Given the description of an element on the screen output the (x, y) to click on. 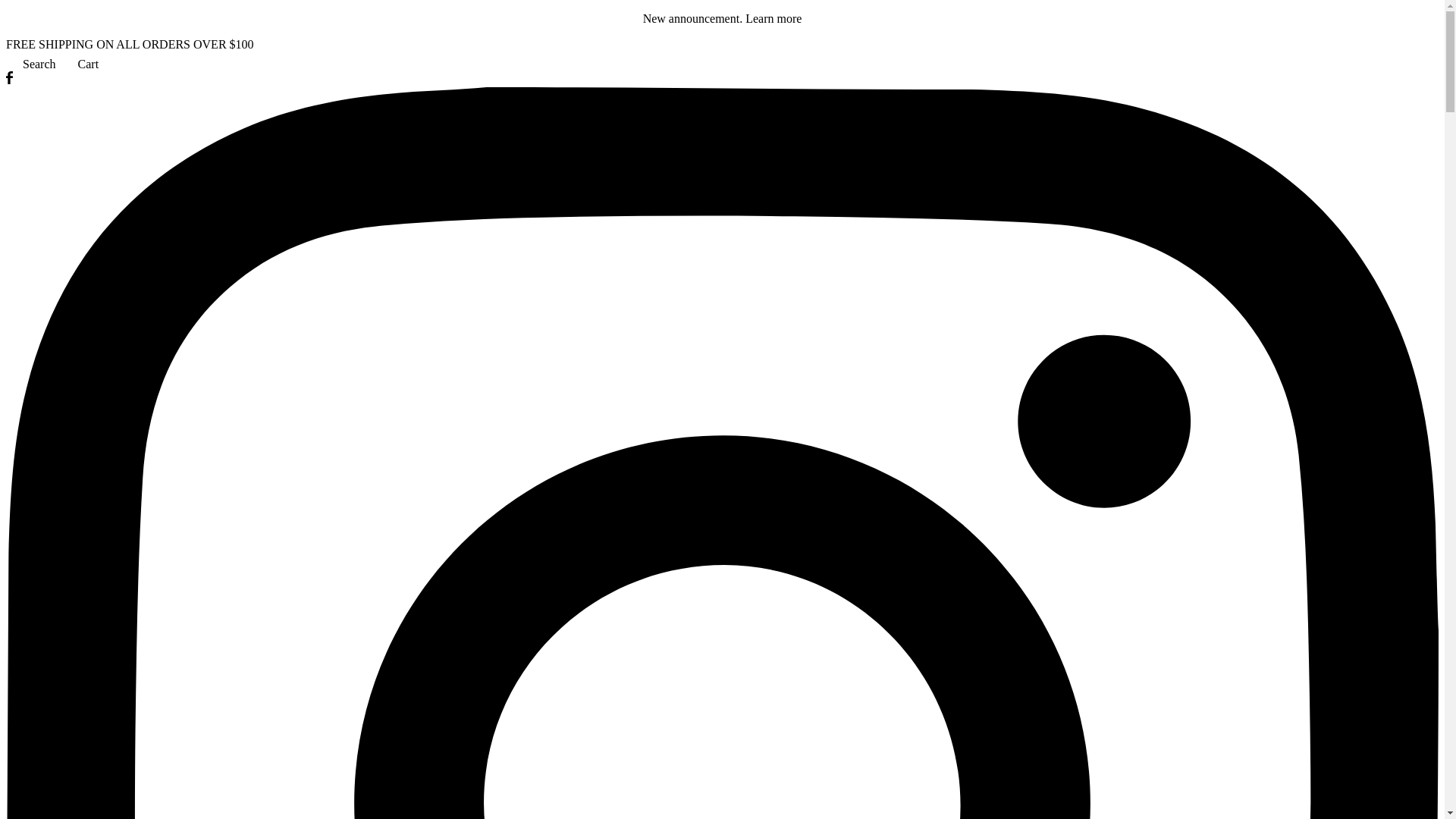
Cart (77, 63)
Search (30, 63)
A link to this website's Facebook. (9, 79)
